Given the description of an element on the screen output the (x, y) to click on. 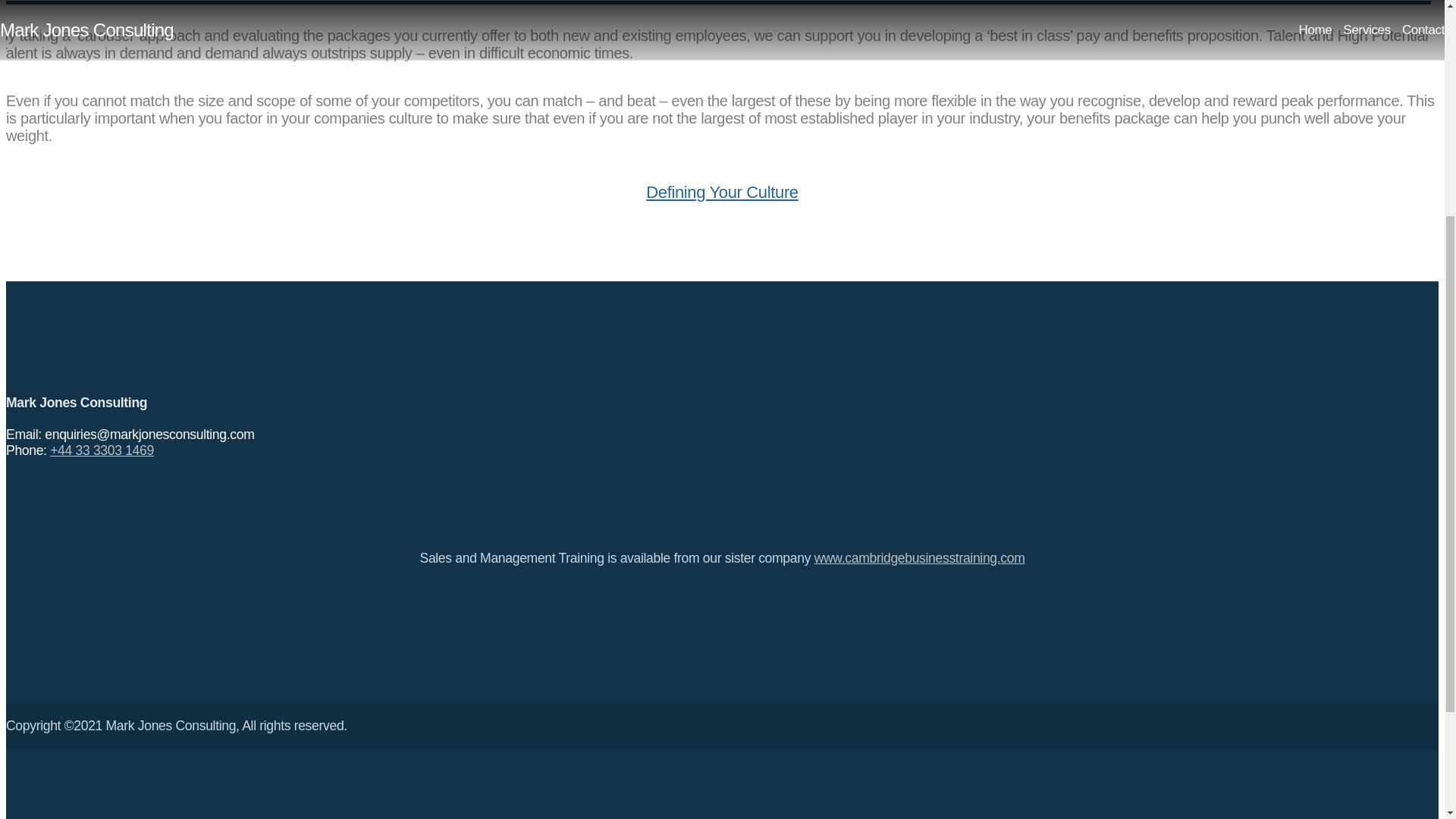
Defining Your Culture (721, 191)
www.cambridgebusinesstraining.com (919, 557)
